Given the description of an element on the screen output the (x, y) to click on. 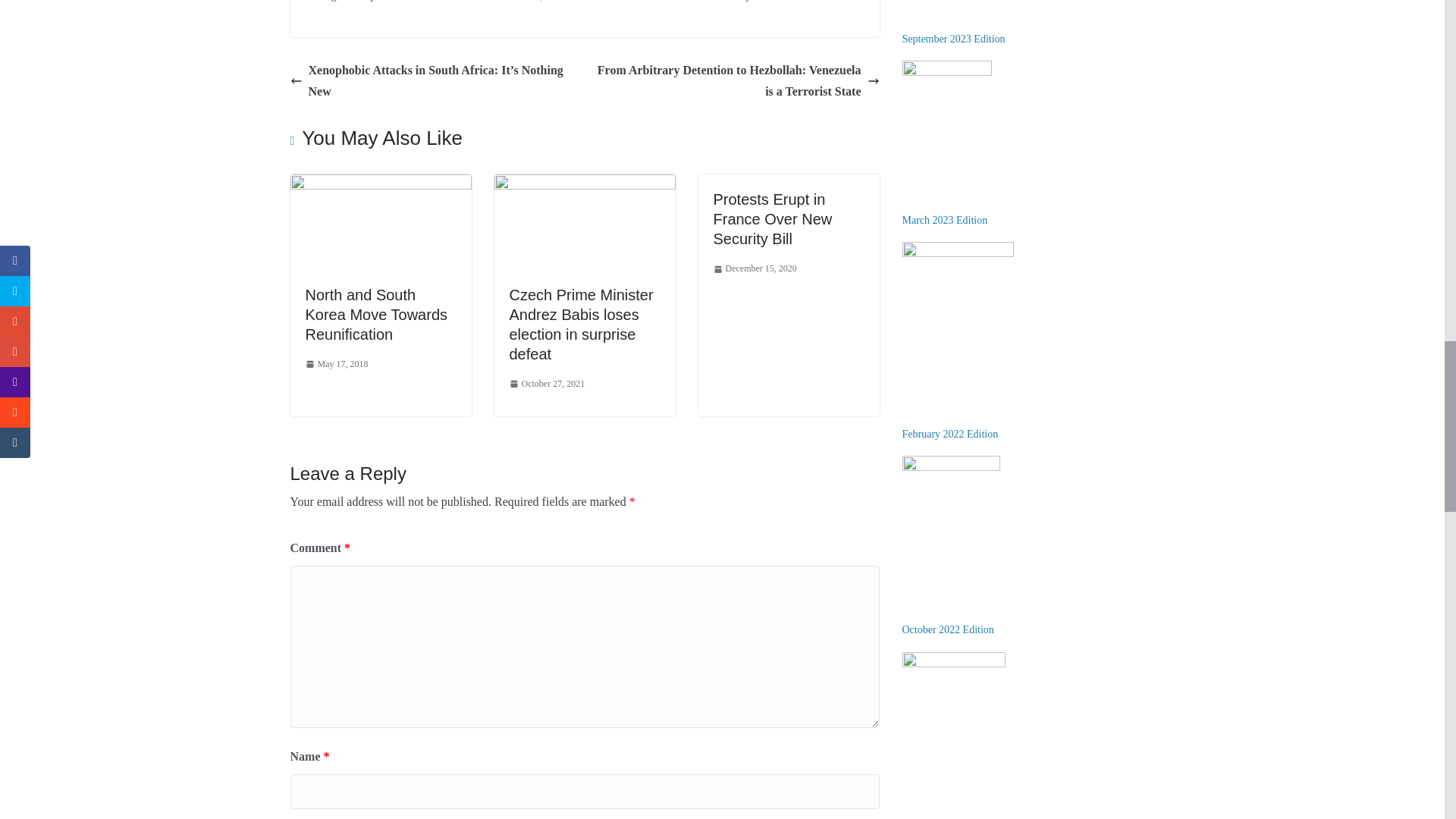
11:33 AM (336, 364)
North and South Korea Move Towards Reunification (375, 314)
North and South Korea Move Towards Reunification (379, 184)
